Given the description of an element on the screen output the (x, y) to click on. 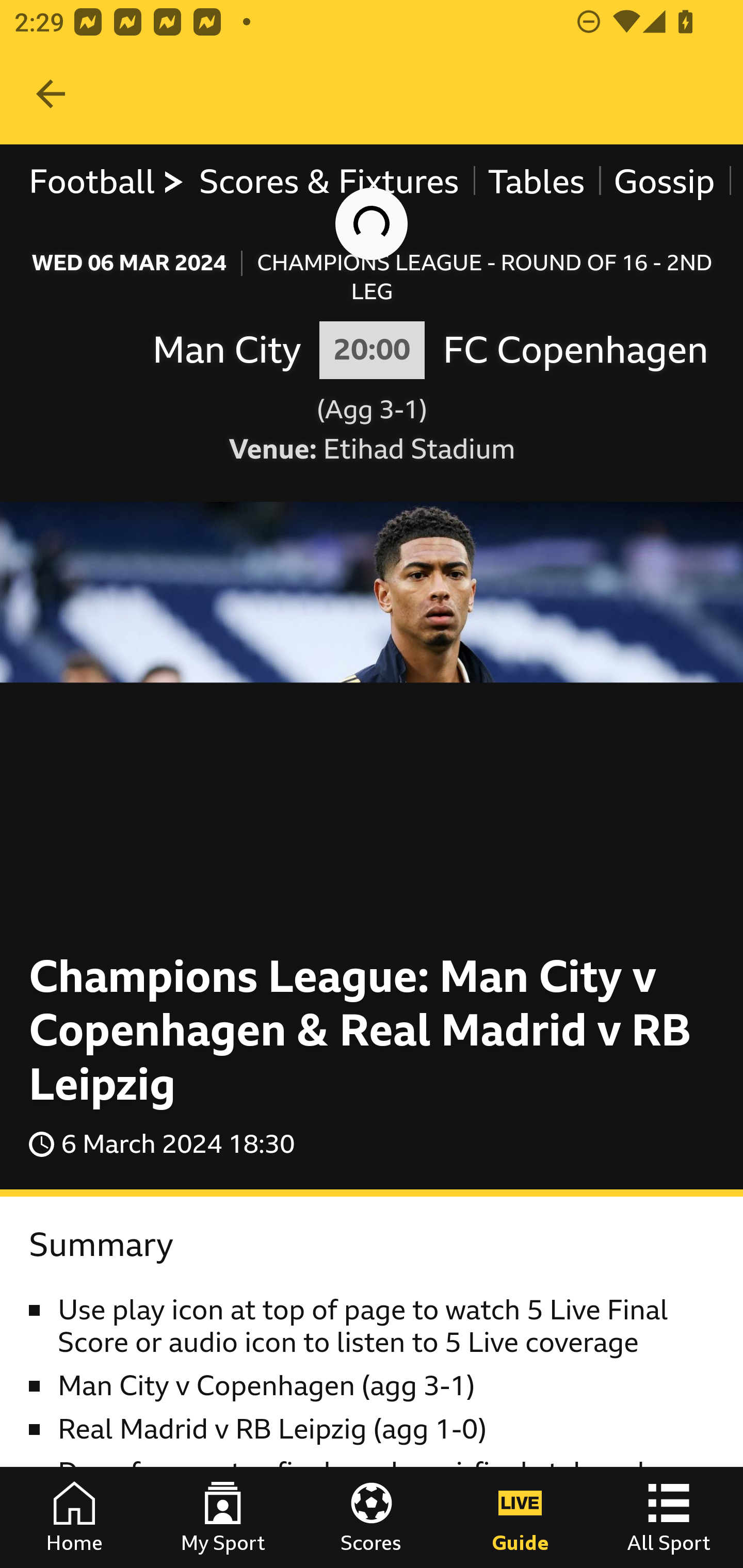
Navigate up (50, 93)
Football  (106, 181)
Scores & Fixtures (329, 181)
Tables (536, 181)
Gossip (664, 181)
Home (74, 1517)
My Sport (222, 1517)
Scores (371, 1517)
All Sport (668, 1517)
